Given the description of an element on the screen output the (x, y) to click on. 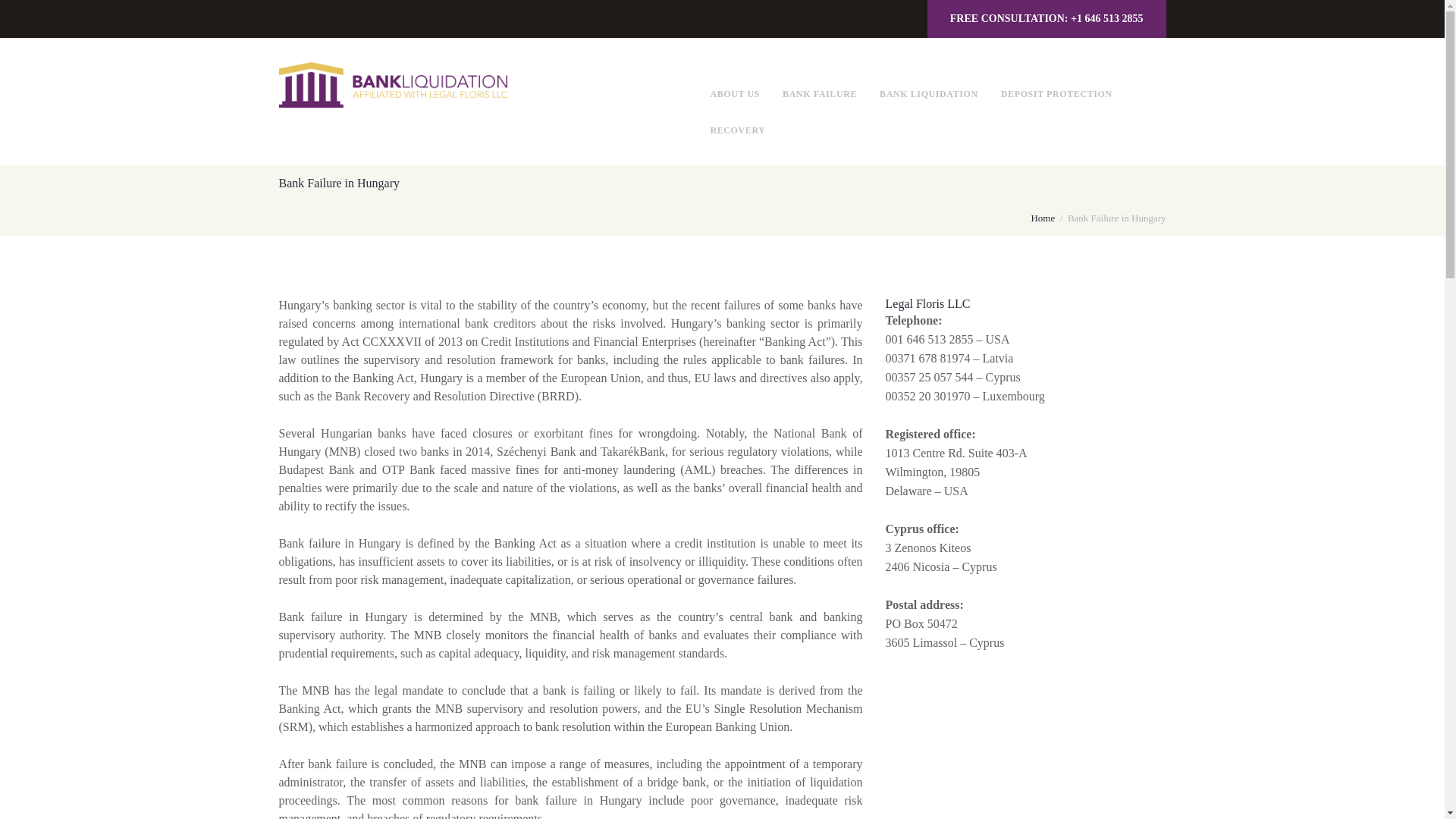
BANK LIQUIDATION (928, 93)
Home (1042, 218)
ABOUT US (735, 93)
BANK FAILURE (820, 93)
DEPOSIT PROTECTION (1056, 93)
RECOVERY (737, 130)
